Given the description of an element on the screen output the (x, y) to click on. 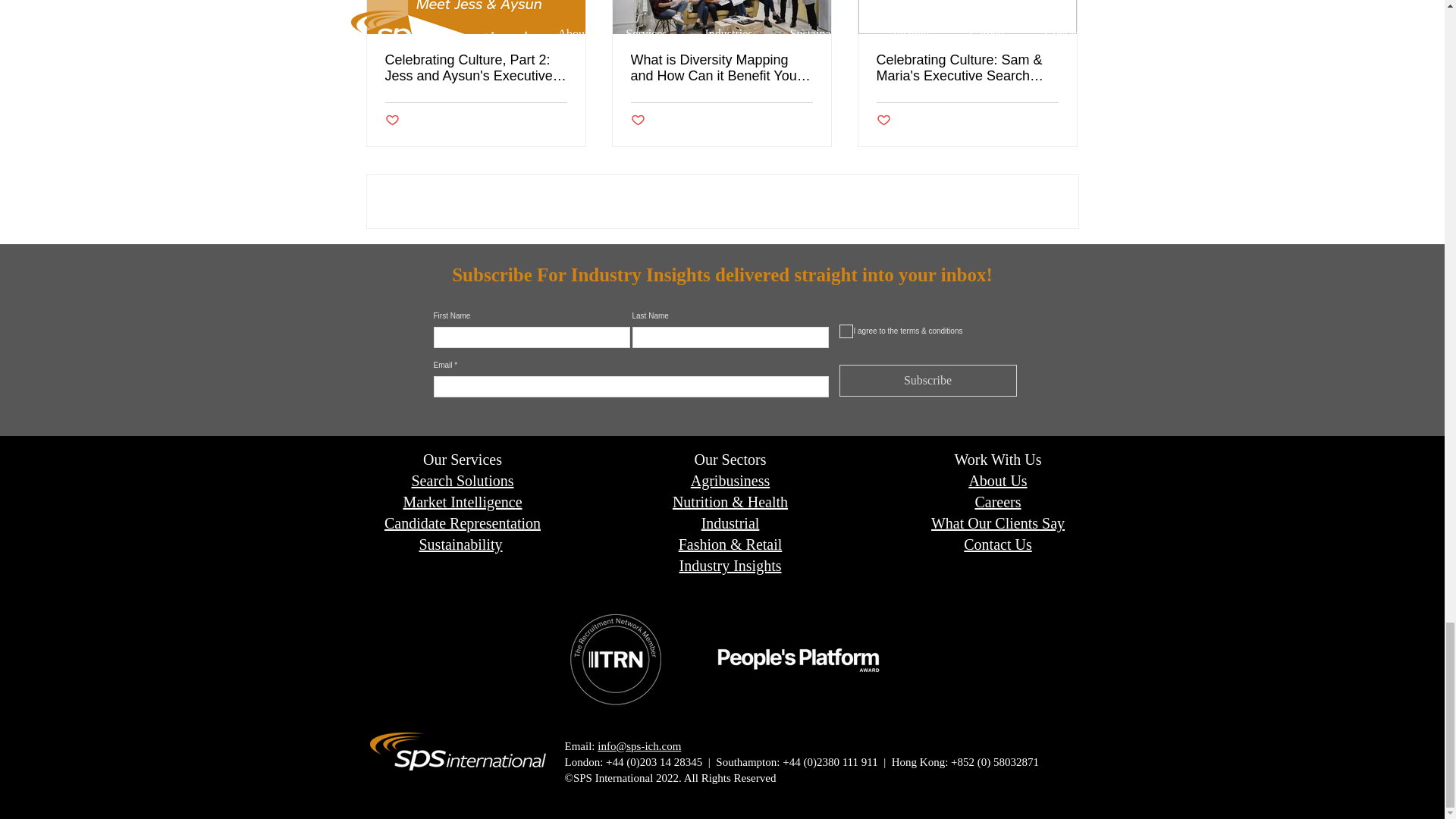
Post not marked as liked (391, 120)
